Given the description of an element on the screen output the (x, y) to click on. 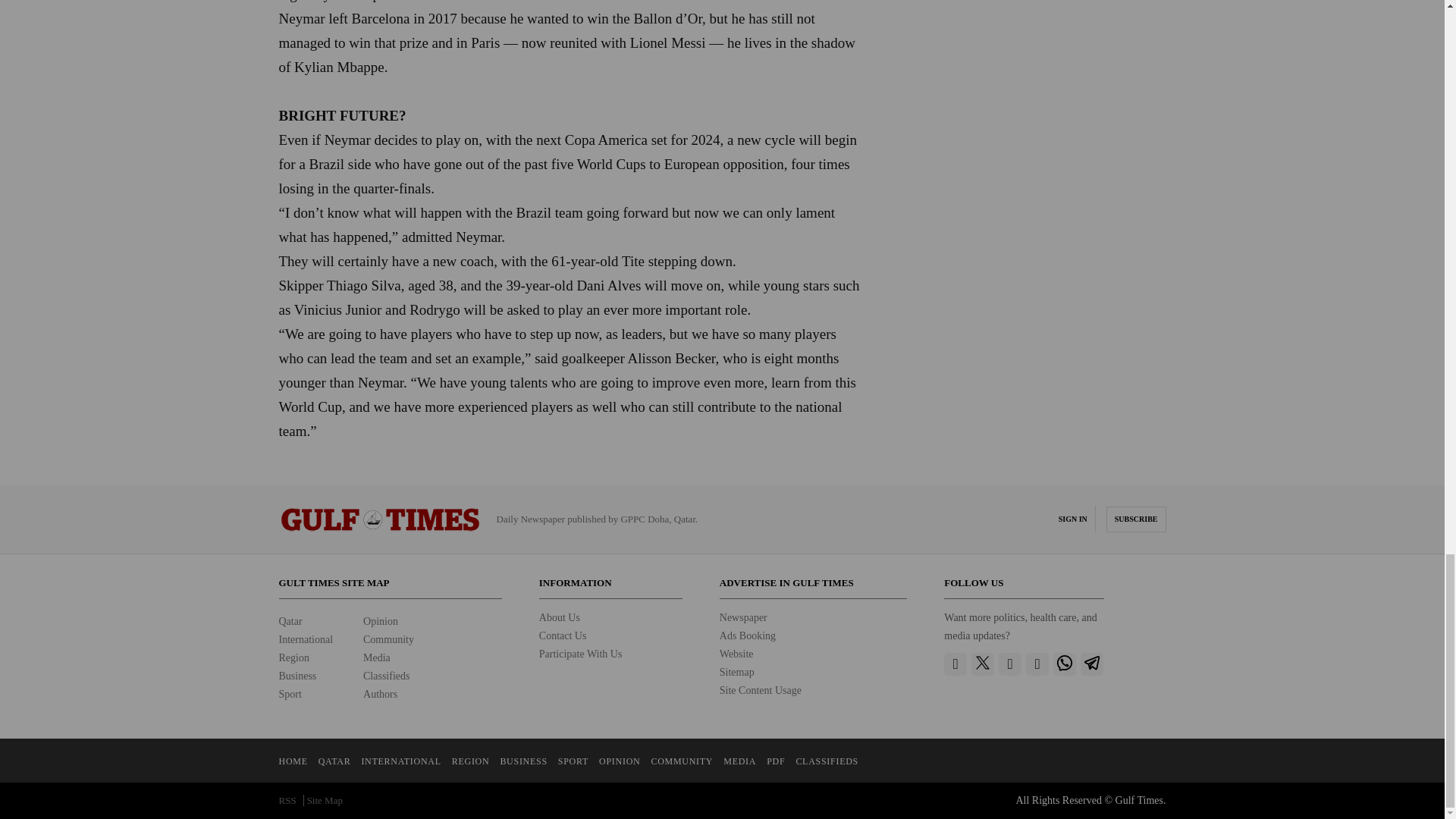
Media (376, 657)
SIGN IN (1072, 519)
Classifieds (385, 675)
Opinion (379, 621)
Qatar (290, 621)
Authors (379, 694)
Region (293, 657)
SUBSCRIBE (1136, 519)
Ads Booking (747, 635)
Contact Us (562, 635)
Business (298, 675)
Community (387, 639)
Newspaper (743, 617)
About Us (558, 617)
Website (736, 654)
